Given the description of an element on the screen output the (x, y) to click on. 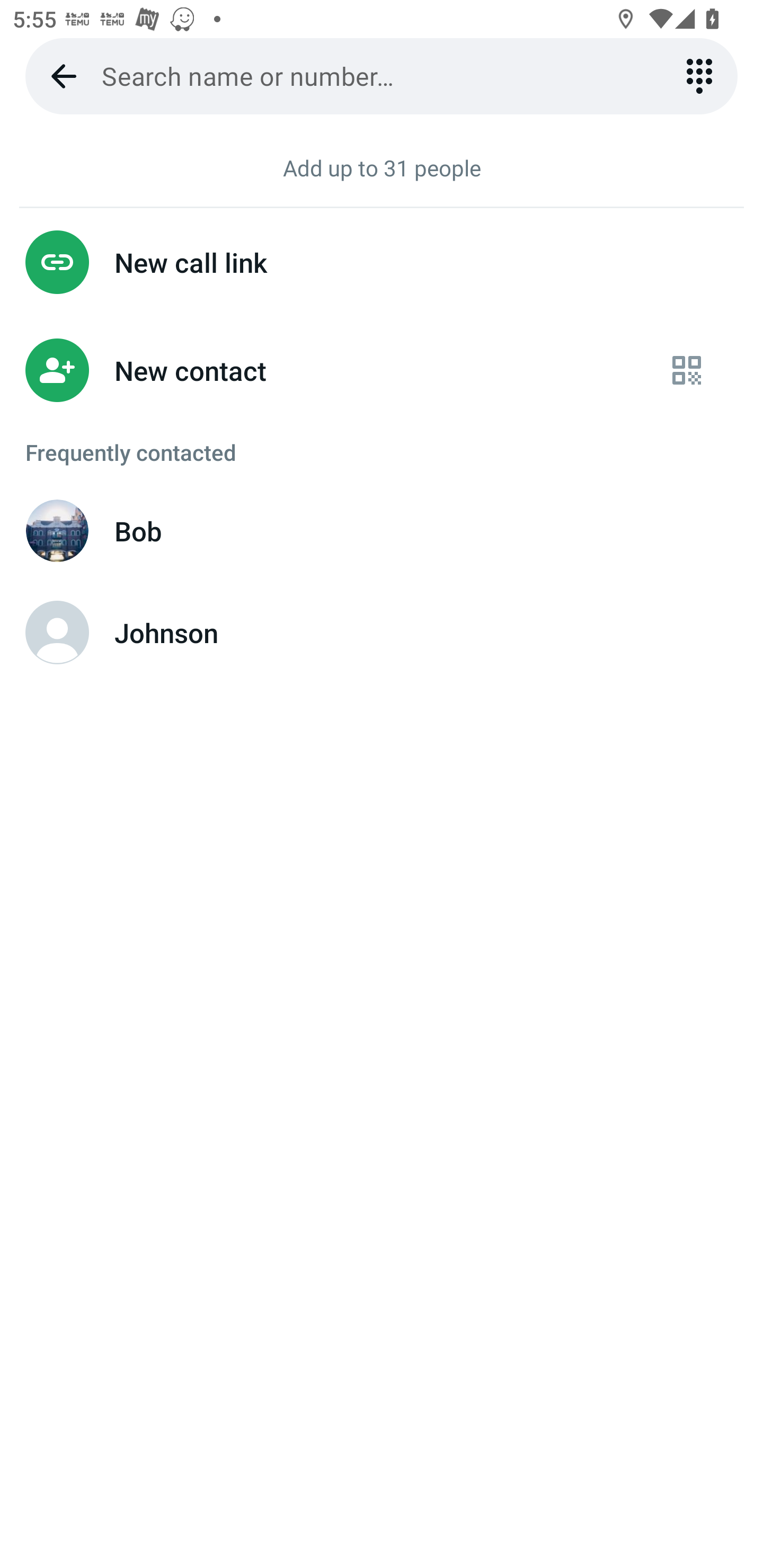
Search name or number… (381, 75)
Show dial pad keyboard (699, 75)
New call link (381, 262)
New contact Scan, share QR code (381, 370)
Scan, share QR code (686, 370)
Frequently contacted (381, 451)
Bob (381, 530)
Johnson (381, 632)
